Given the description of an element on the screen output the (x, y) to click on. 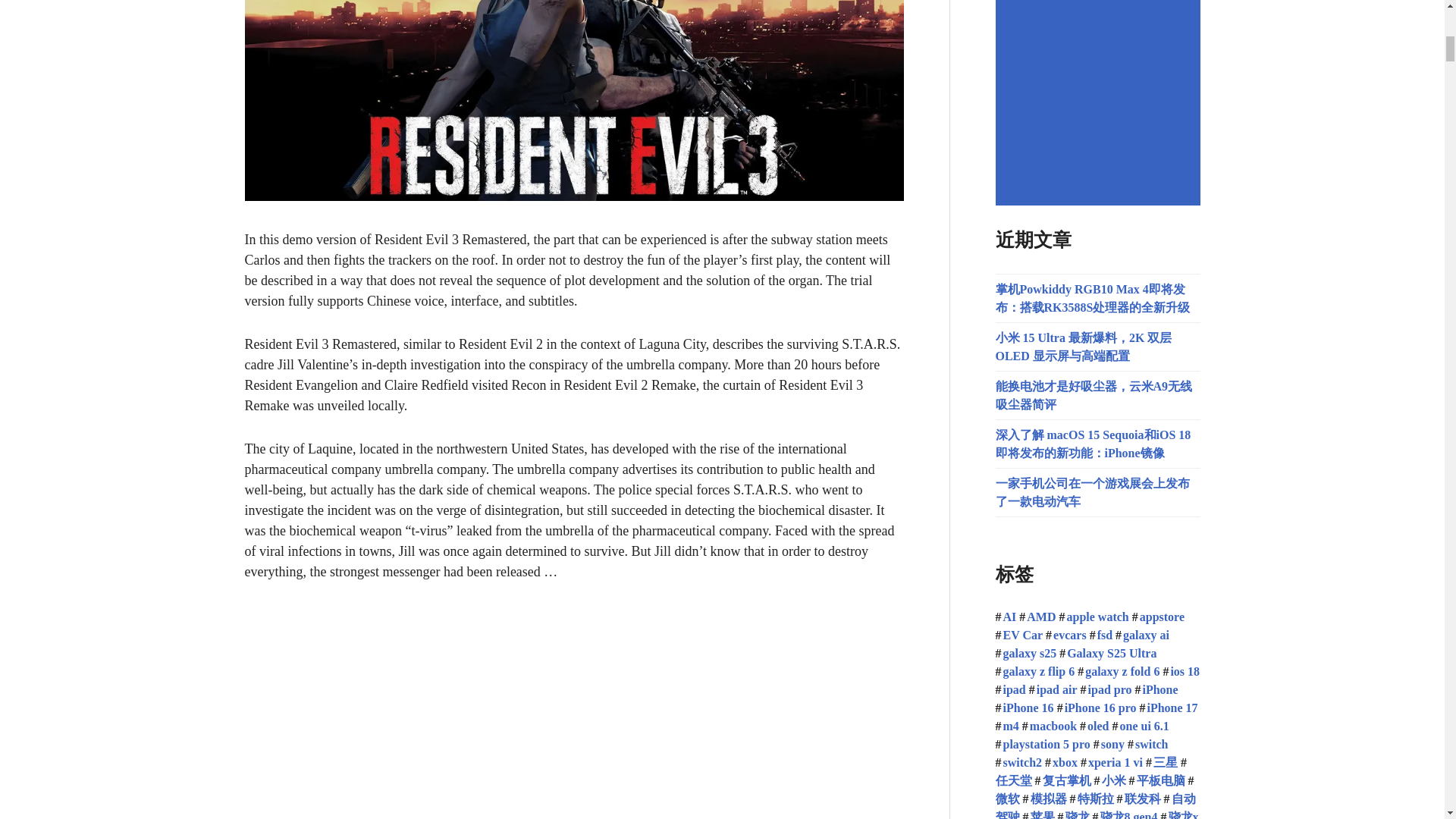
Galaxy S25 Ultra (1107, 653)
appstore (1158, 616)
EV Car (1018, 634)
galaxy s25 (1025, 653)
Advertisement (1099, 102)
AI (1005, 616)
galaxy ai (1142, 634)
evcars (1065, 634)
apple watch (1093, 616)
fsd (1100, 634)
AMD (1037, 616)
